Given the description of an element on the screen output the (x, y) to click on. 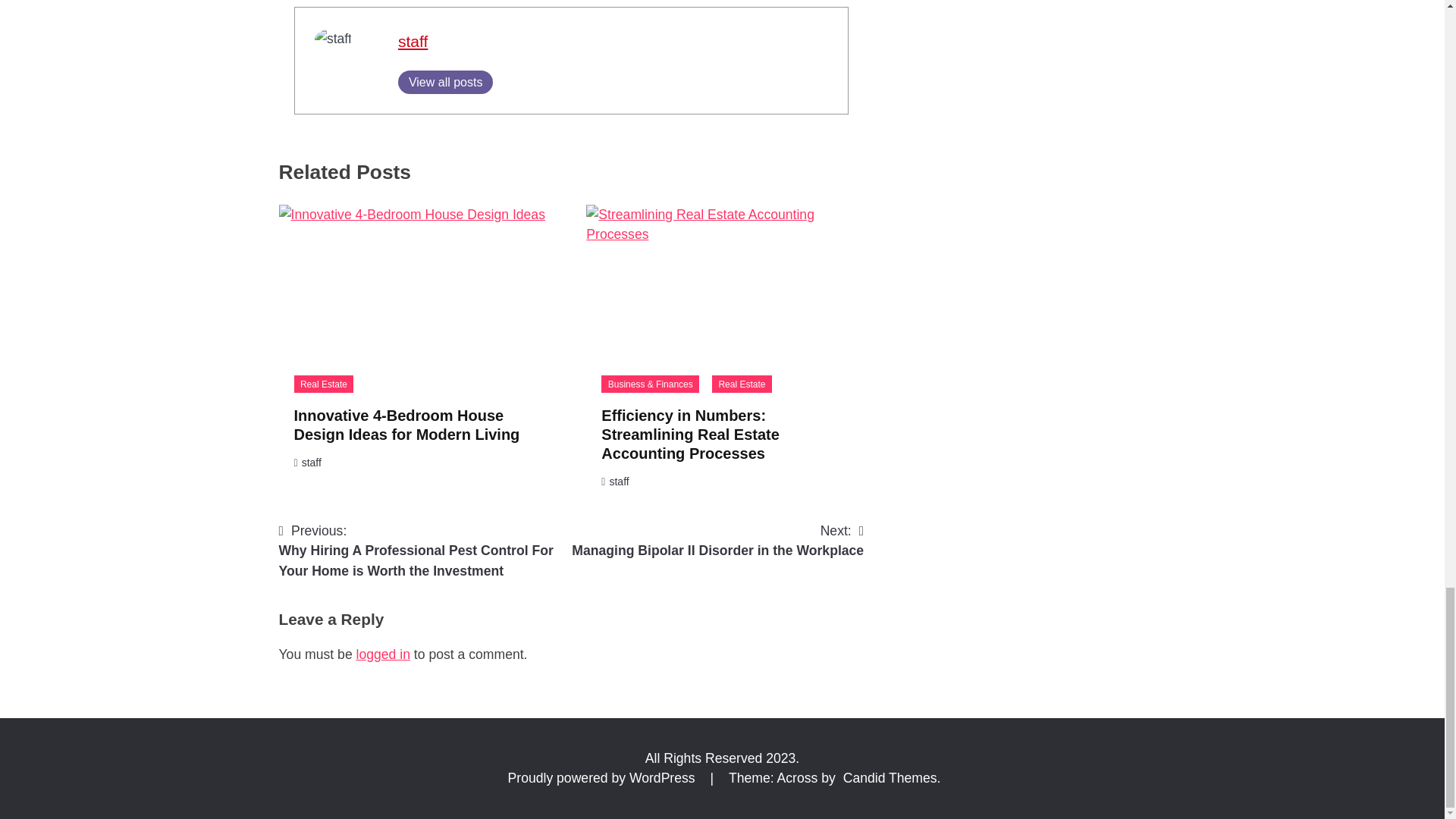
View all posts (445, 82)
View all posts (445, 82)
staff (311, 462)
staff (618, 481)
staff (412, 40)
Innovative 4-Bedroom House Design Ideas for Modern Living (406, 425)
Real Estate (323, 384)
staff (412, 40)
